Given the description of an element on the screen output the (x, y) to click on. 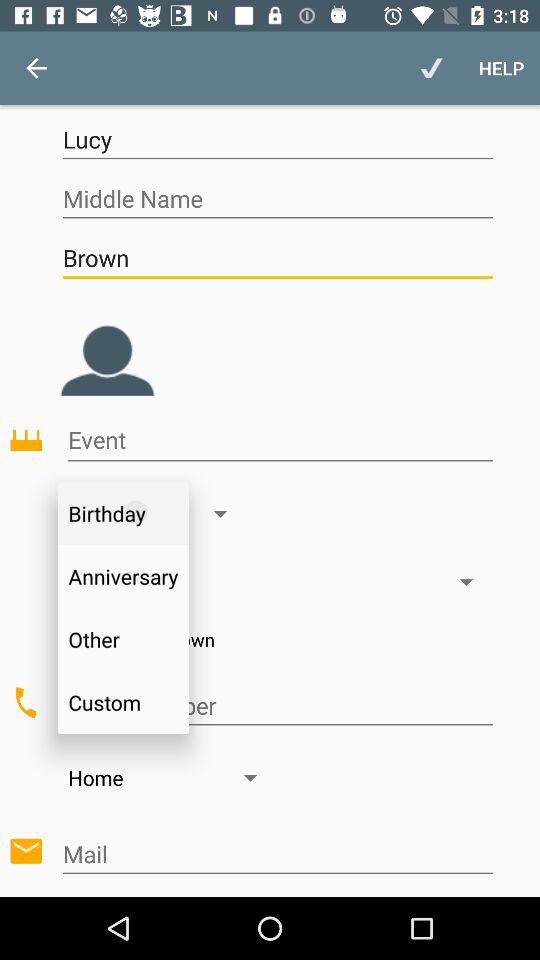
middle name space (277, 198)
